Given the description of an element on the screen output the (x, y) to click on. 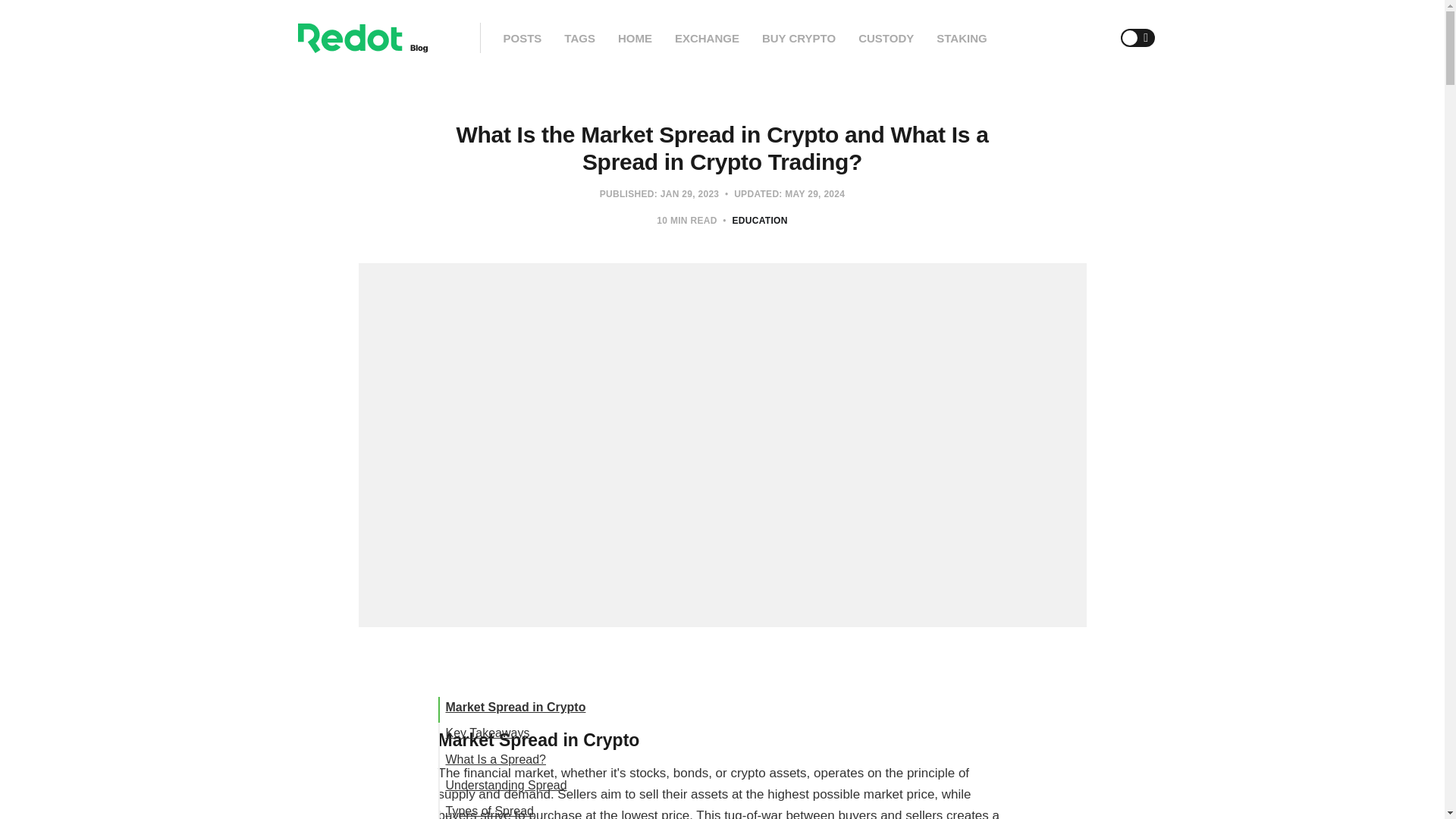
POSTS (522, 38)
EXCHANGE (707, 38)
education (759, 220)
TAGS (579, 38)
CUSTODY (886, 38)
Market Spread in Crypto (515, 707)
Key Takeaways (487, 732)
HOME (634, 38)
What Is a Spread? (496, 758)
STAKING (961, 38)
